Given the description of an element on the screen output the (x, y) to click on. 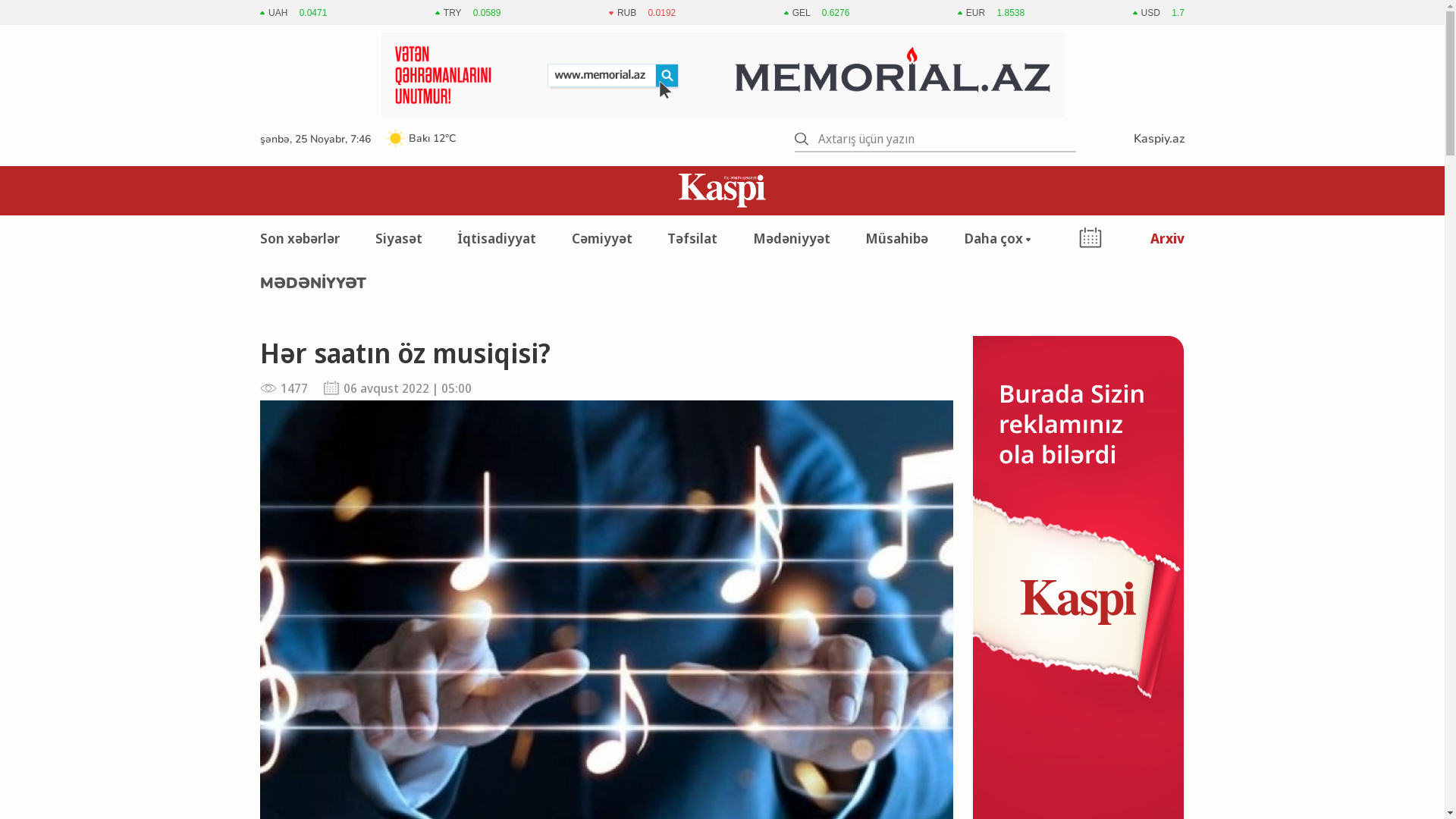
Arxiv Element type: text (1167, 237)
Kaspiy.az Element type: text (1152, 138)
